Given the description of an element on the screen output the (x, y) to click on. 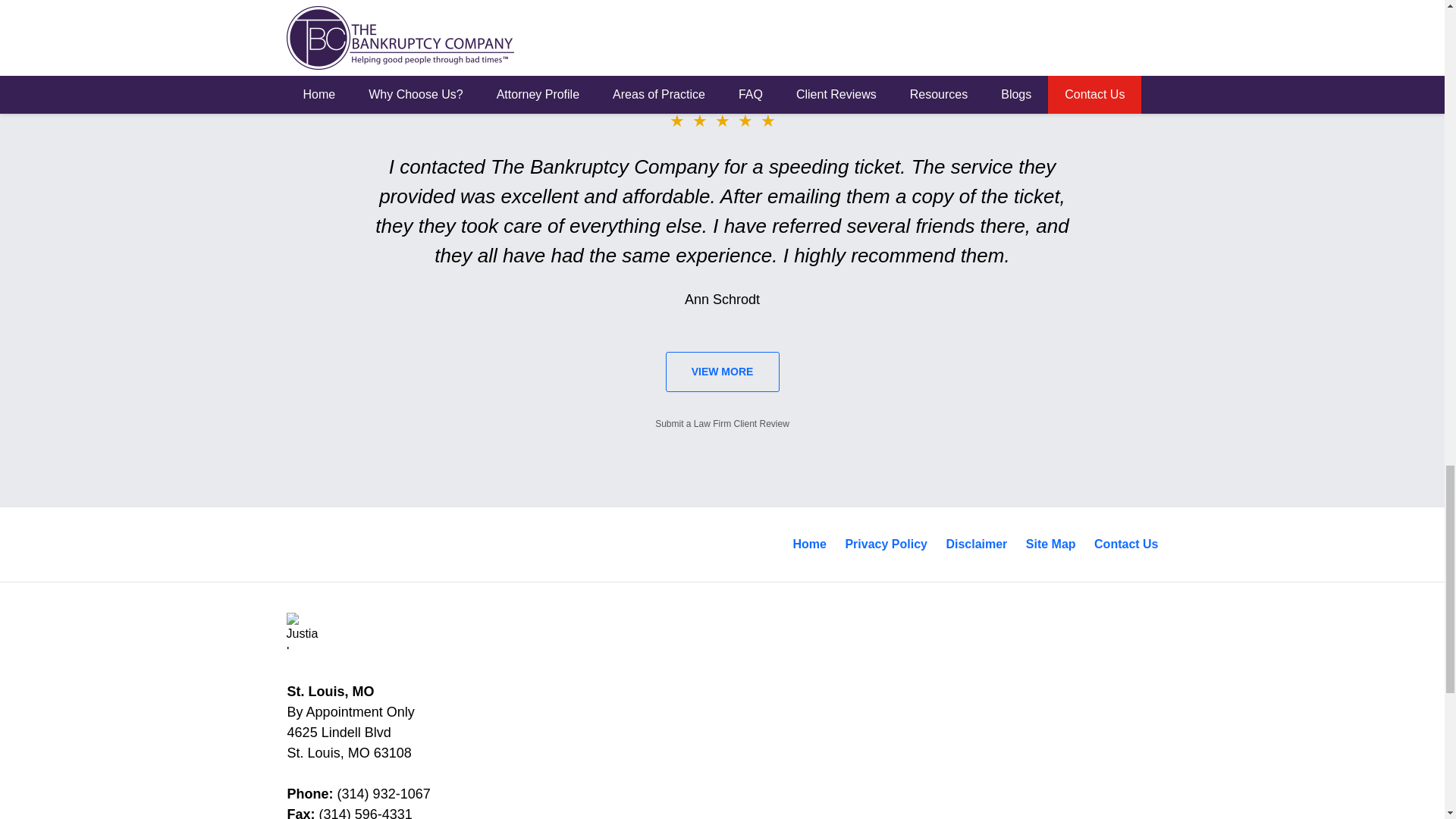
Disclaimer (975, 543)
Privacy Policy (885, 543)
Justia (304, 630)
Site Map (1050, 543)
Home (810, 543)
VIEW MORE (721, 372)
Submit a Law Firm Client Review (722, 423)
Contact Us (1126, 543)
